Given the description of an element on the screen output the (x, y) to click on. 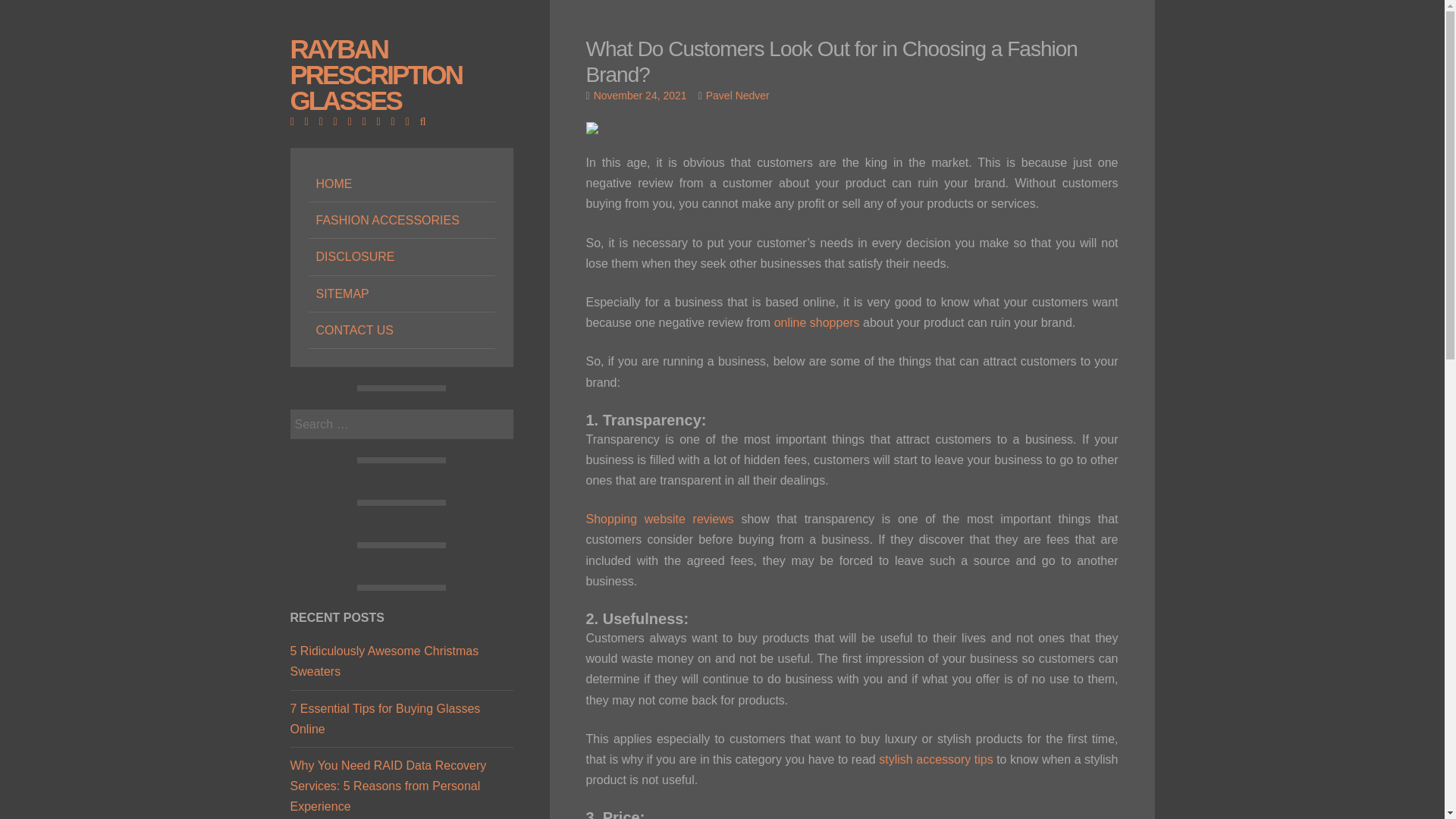
Facebook (295, 121)
SITEMAP (401, 294)
Twitter (309, 121)
Search (32, 12)
Facebook (295, 121)
Google Plus (324, 121)
Instagram (353, 121)
RAYBAN PRESCRIPTION GLASSES (375, 74)
7 Essential Tips for Buying Glasses Online (384, 718)
Linkedin (339, 121)
FASHION ACCESSORIES (401, 220)
5 Ridiculously Awesome Christmas Sweaters (384, 661)
HOME (401, 184)
Pinterest (382, 121)
